Given the description of an element on the screen output the (x, y) to click on. 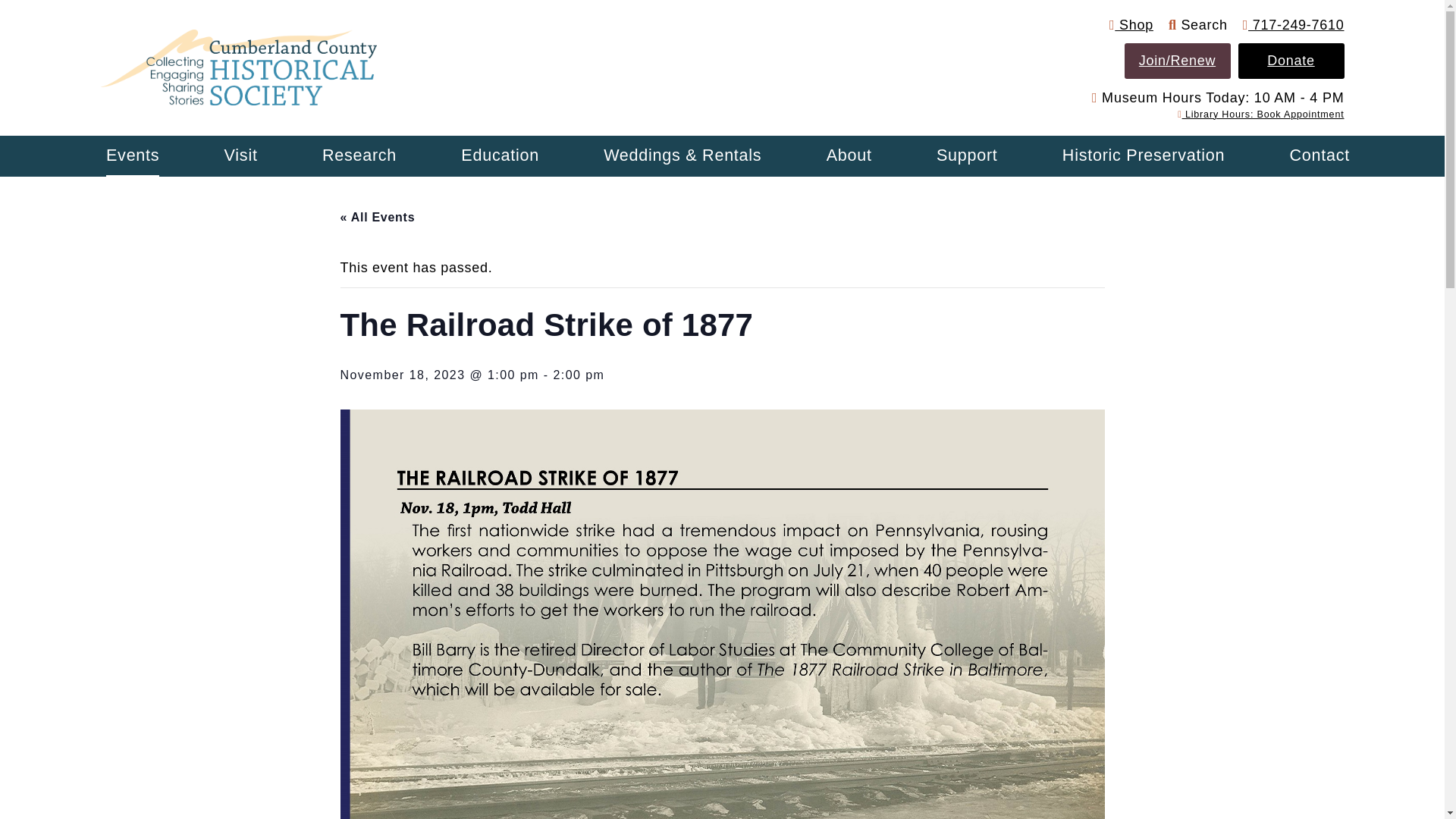
Events (132, 155)
Research (358, 155)
Library Hours: Book Appointment (1260, 113)
Shop (1131, 24)
Education (499, 155)
717-249-7610 (1293, 24)
Visit (240, 155)
Donate (1290, 60)
